Given the description of an element on the screen output the (x, y) to click on. 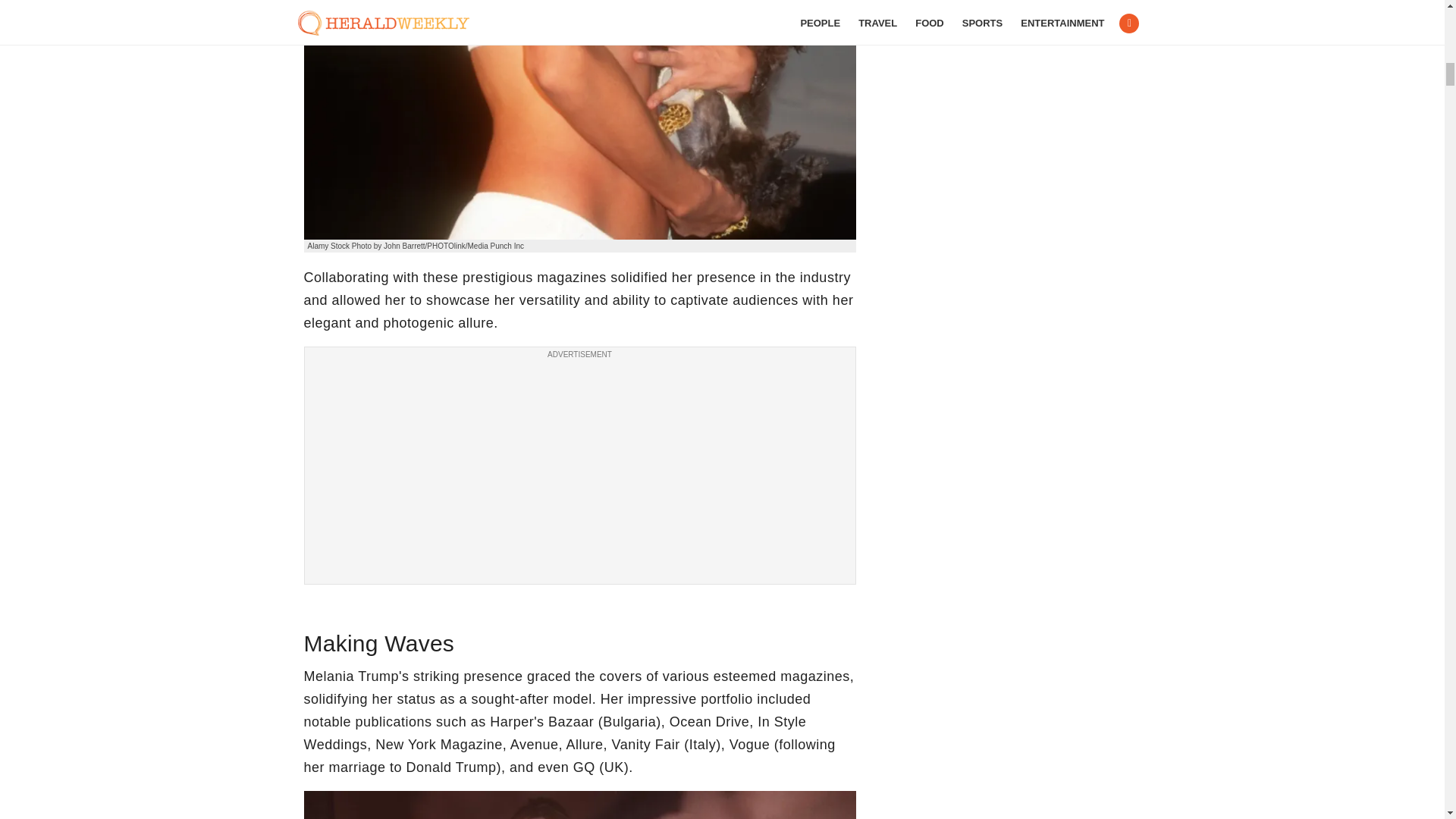
Made for Modeling (579, 119)
Making Waves (579, 805)
